Given the description of an element on the screen output the (x, y) to click on. 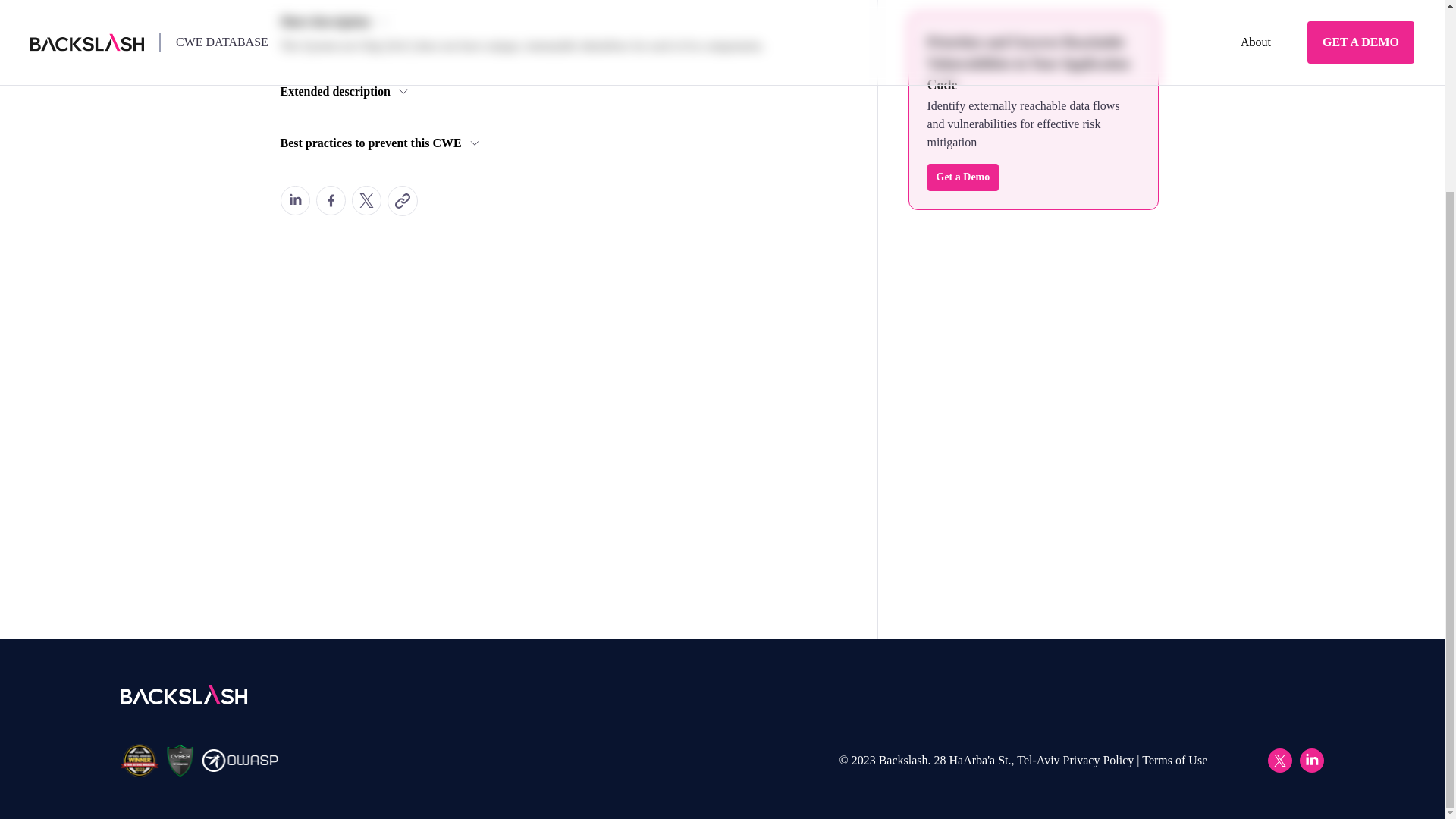
Privacy Policy (1098, 759)
Get a Demo (962, 176)
Terms of Use (1174, 759)
